Given the description of an element on the screen output the (x, y) to click on. 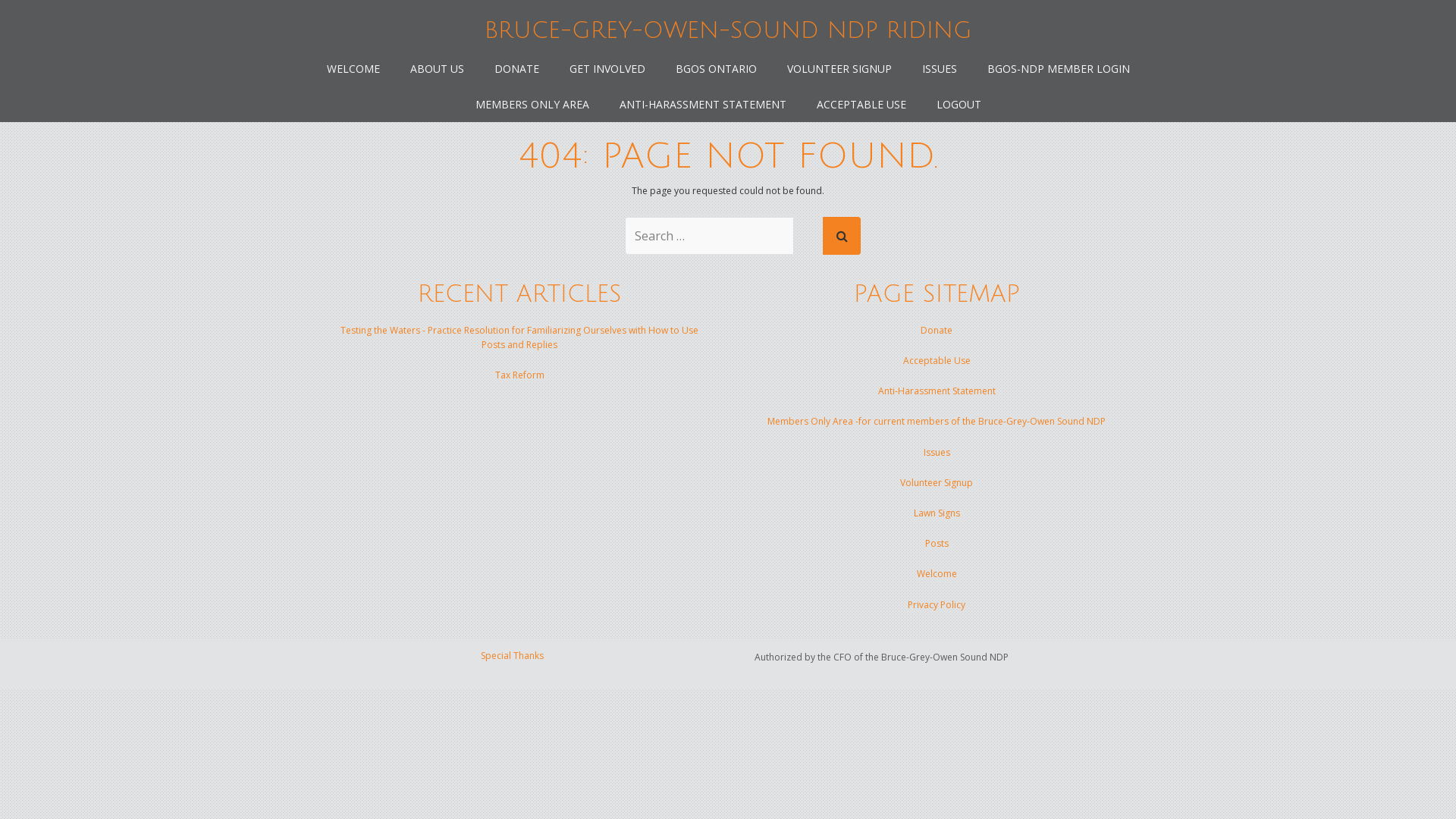
WELCOME Element type: text (352, 68)
ANTI-HARASSMENT STATEMENT Element type: text (701, 104)
ACCEPTABLE USE Element type: text (860, 104)
Issues Element type: text (936, 451)
BGOS-NDP MEMBER LOGIN Element type: text (1058, 68)
MEMBERS ONLY AREA Element type: text (531, 104)
LOGOUT Element type: text (957, 104)
Special Thanks Element type: text (511, 655)
Lawn Signs Element type: text (936, 512)
GET INVOLVED Element type: text (606, 68)
BRUCE-GREY-OWEN-SOUND NDP RIDING Element type: text (727, 30)
VOLUNTEER SIGNUP Element type: text (838, 68)
Acceptable Use Element type: text (935, 360)
Volunteer Signup Element type: text (936, 482)
DONATE Element type: text (516, 68)
Privacy Policy Element type: text (936, 604)
Tax Reform Element type: text (518, 374)
ABOUT US Element type: text (436, 68)
Donate Element type: text (936, 329)
Welcome Element type: text (936, 573)
ISSUES Element type: text (939, 68)
BGOS ONTARIO Element type: text (715, 68)
Posts Element type: text (936, 542)
Anti-Harassment Statement Element type: text (936, 390)
